Given the description of an element on the screen output the (x, y) to click on. 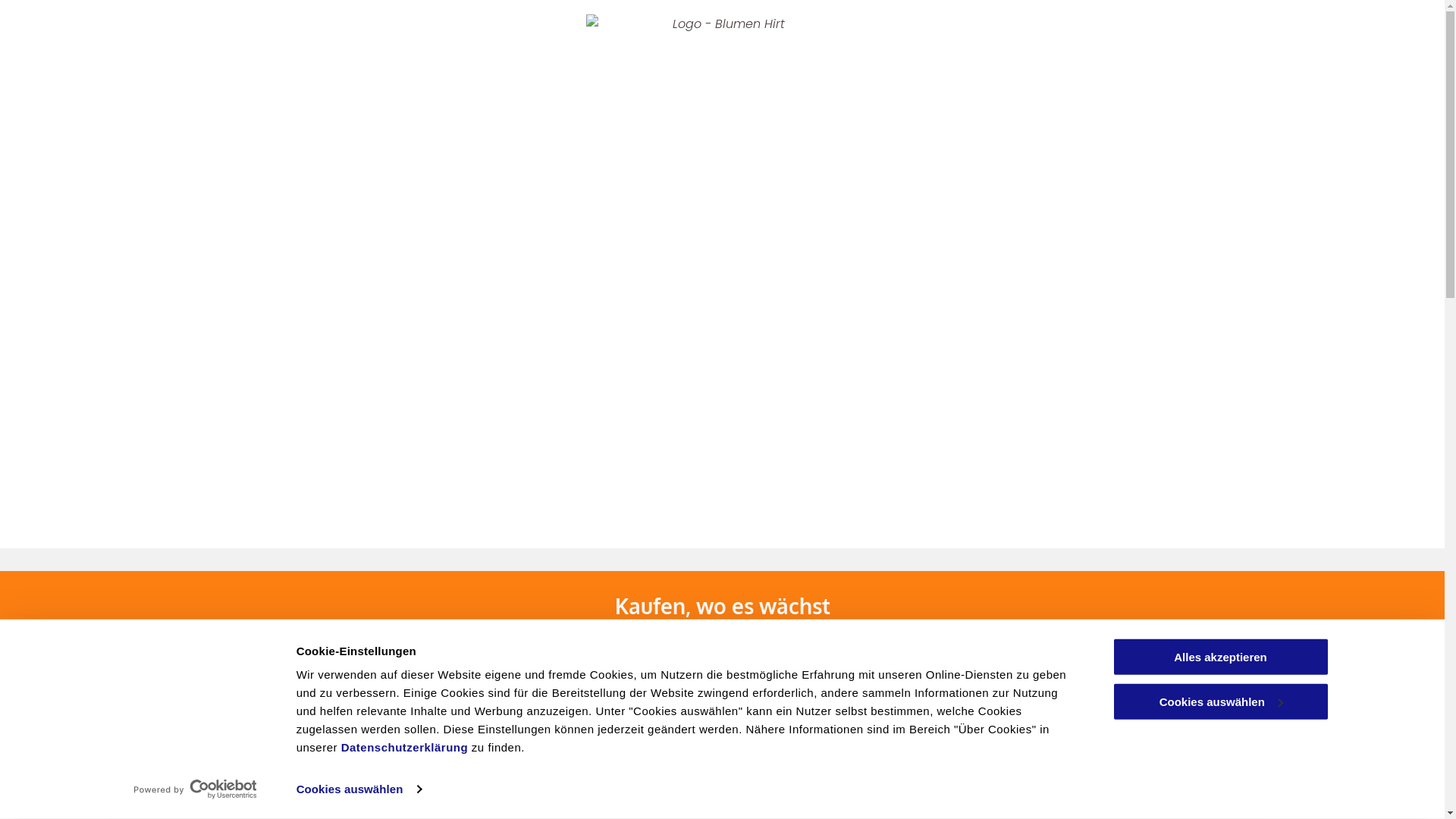
Alles akzeptieren Element type: text (1219, 656)
